Given the description of an element on the screen output the (x, y) to click on. 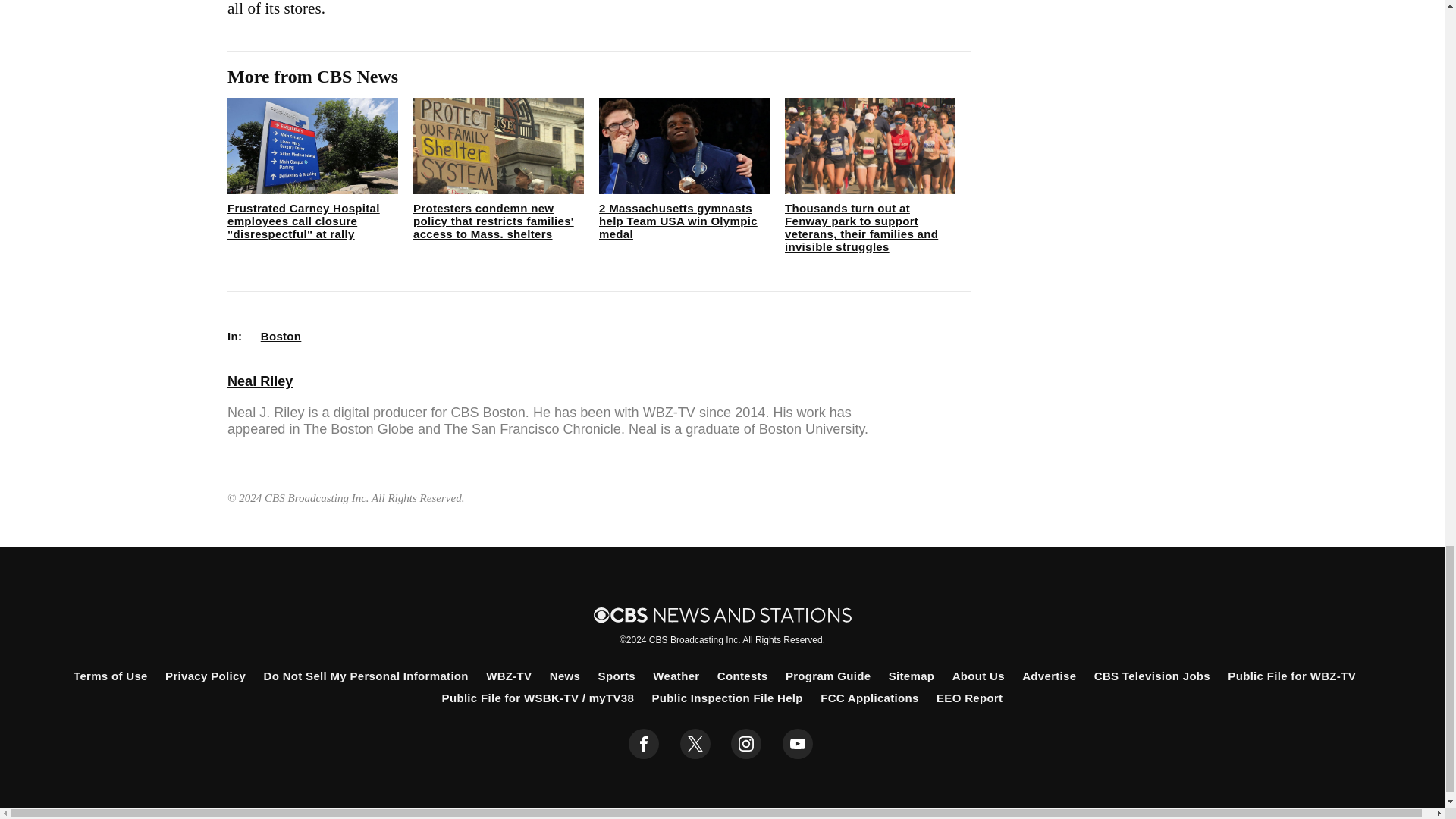
twitter (694, 743)
youtube (797, 743)
facebook (643, 743)
instagram (745, 743)
